Given the description of an element on the screen output the (x, y) to click on. 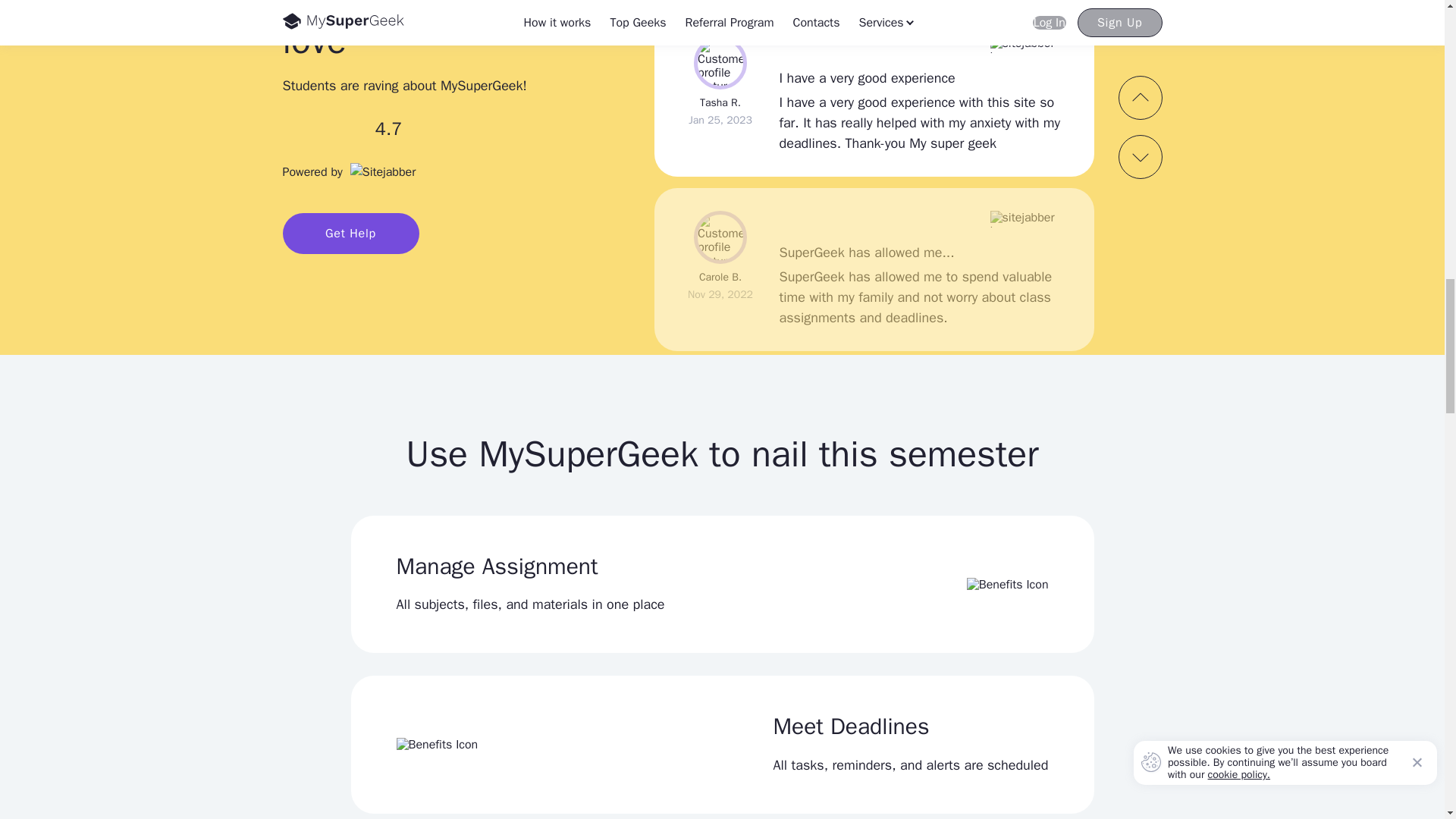
Get Help (350, 232)
prev (1139, 97)
next (1139, 157)
